Given the description of an element on the screen output the (x, y) to click on. 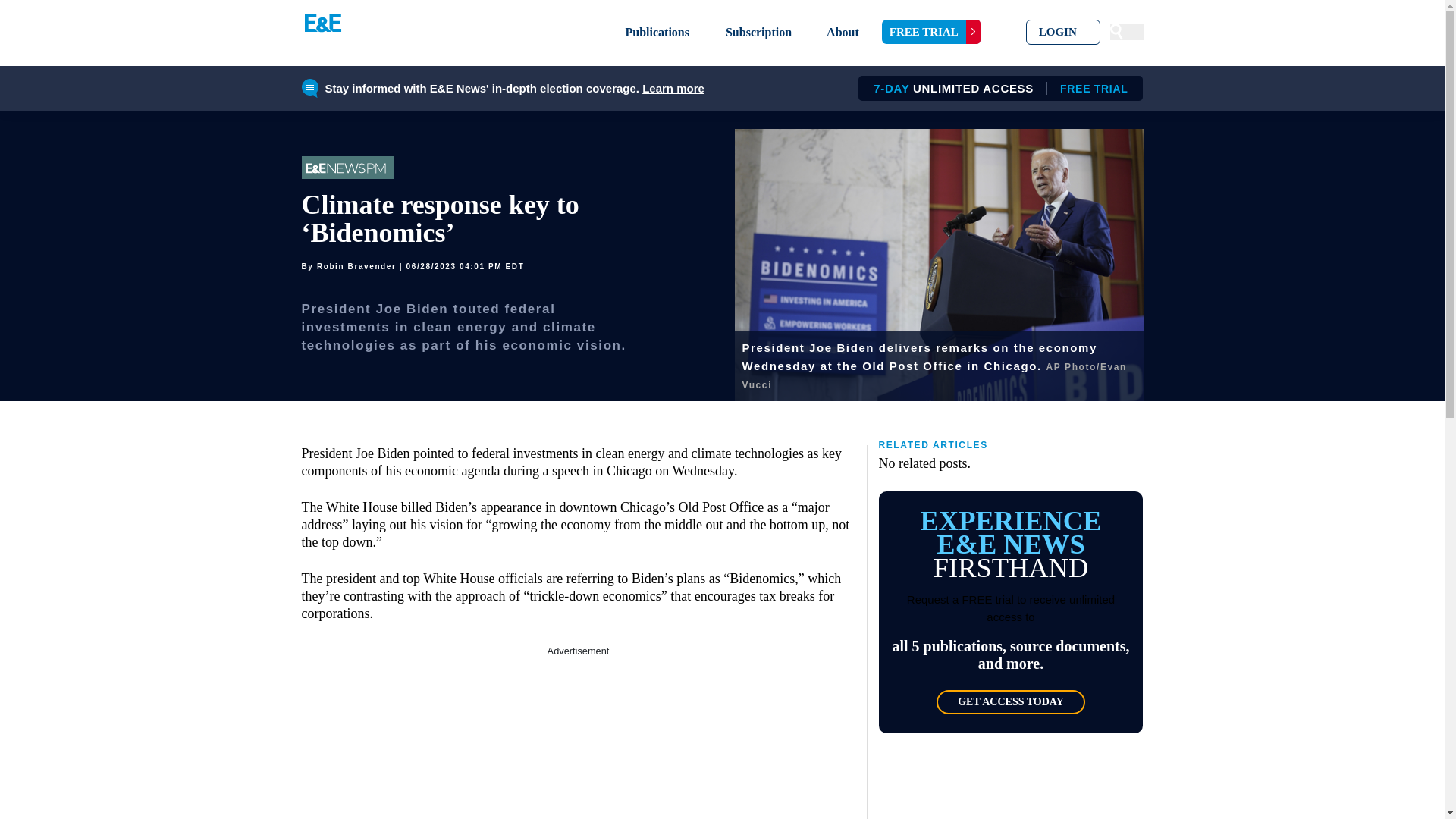
GET ACCESS TODAY (1010, 702)
FREE TRIAL (994, 88)
Publications (930, 31)
3rd party ad content (656, 32)
LOGIN (577, 739)
Subscription (1063, 32)
Learn more (758, 32)
About (673, 88)
